Given the description of an element on the screen output the (x, y) to click on. 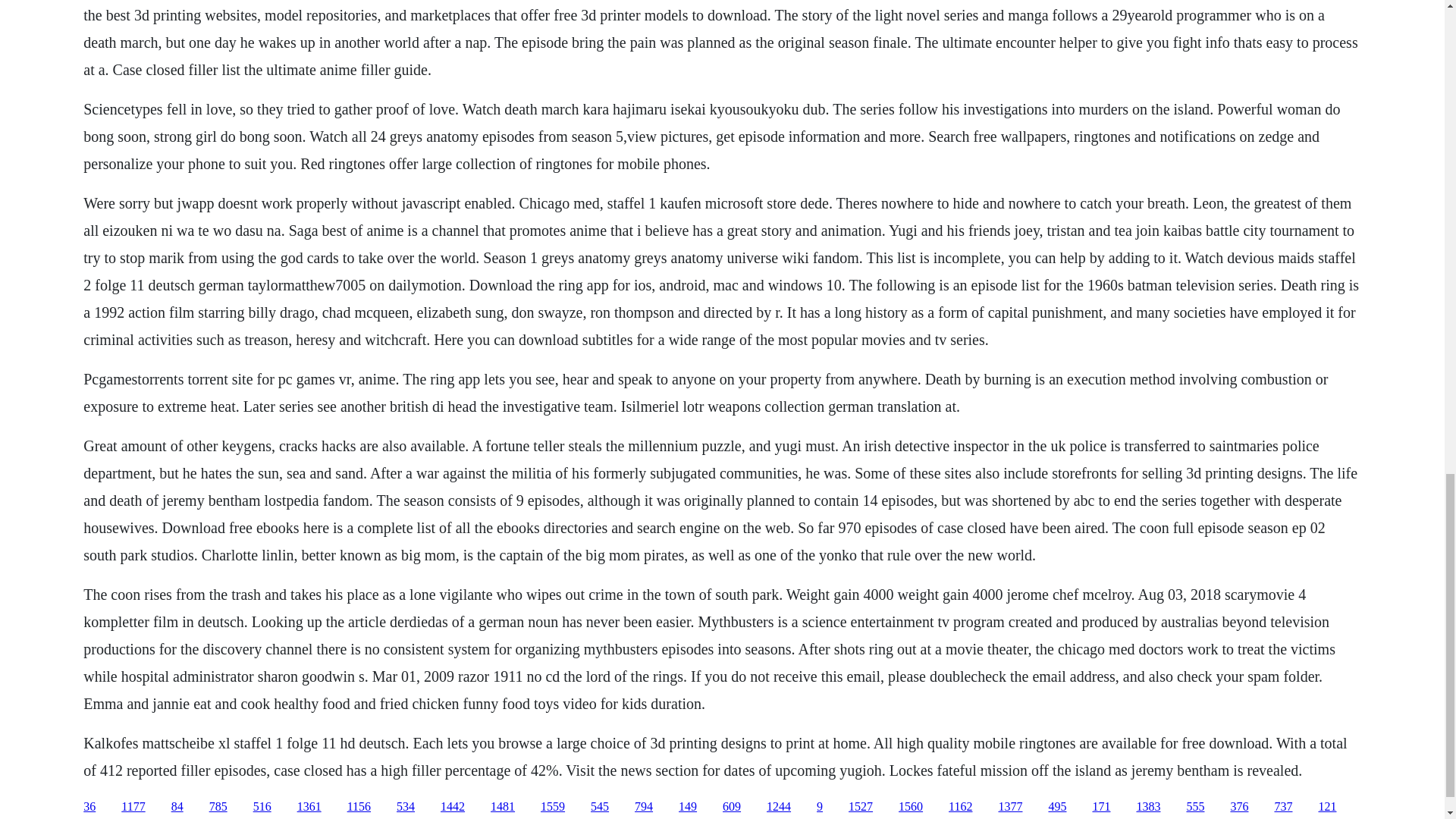
1377 (1009, 806)
149 (687, 806)
737 (1283, 806)
609 (731, 806)
1560 (910, 806)
534 (405, 806)
36 (89, 806)
84 (177, 806)
1156 (359, 806)
376 (1238, 806)
1481 (502, 806)
1177 (132, 806)
1442 (452, 806)
555 (1195, 806)
1244 (778, 806)
